Given the description of an element on the screen output the (x, y) to click on. 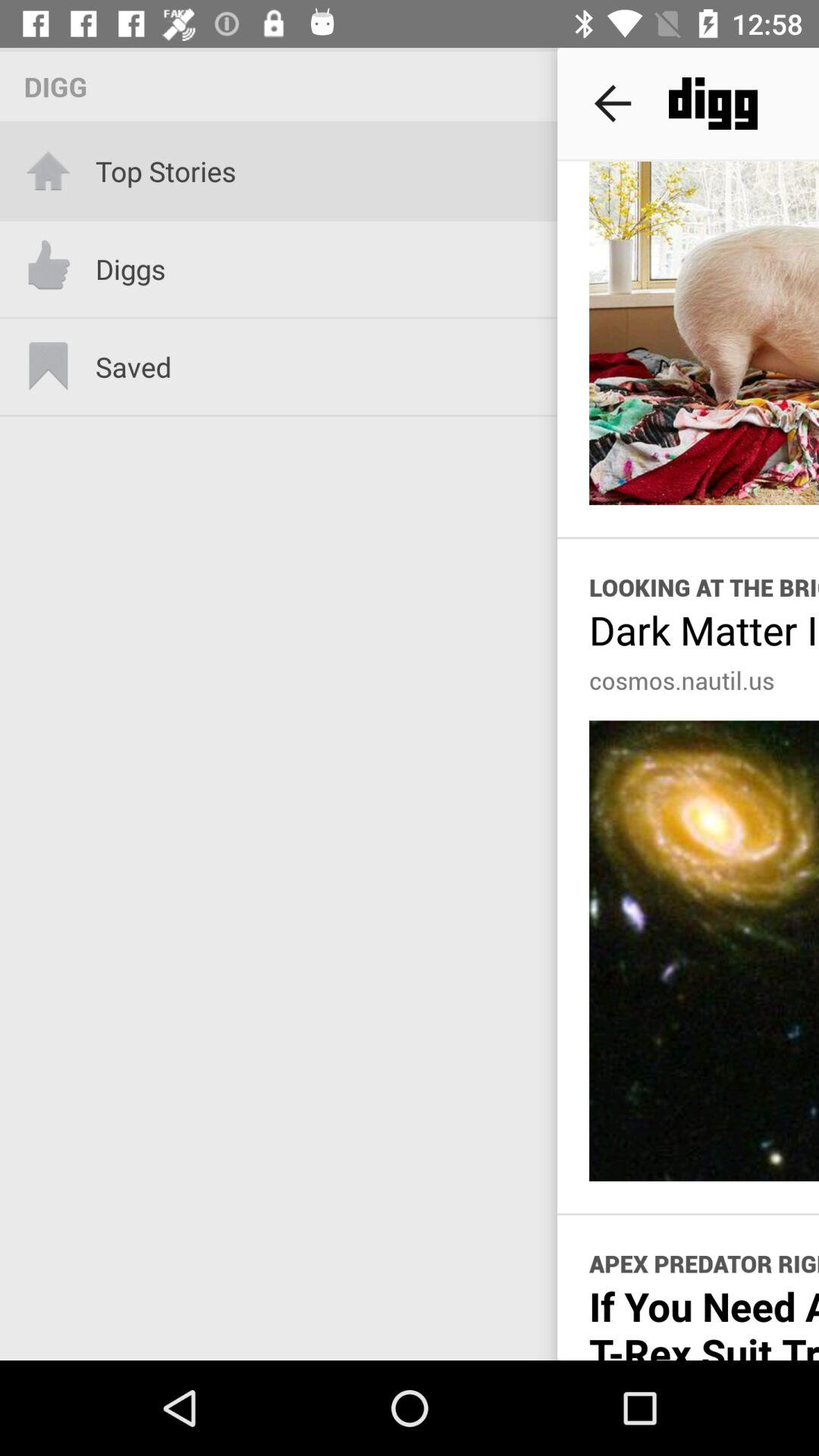
swipe until the dark matter is item (704, 629)
